Given the description of an element on the screen output the (x, y) to click on. 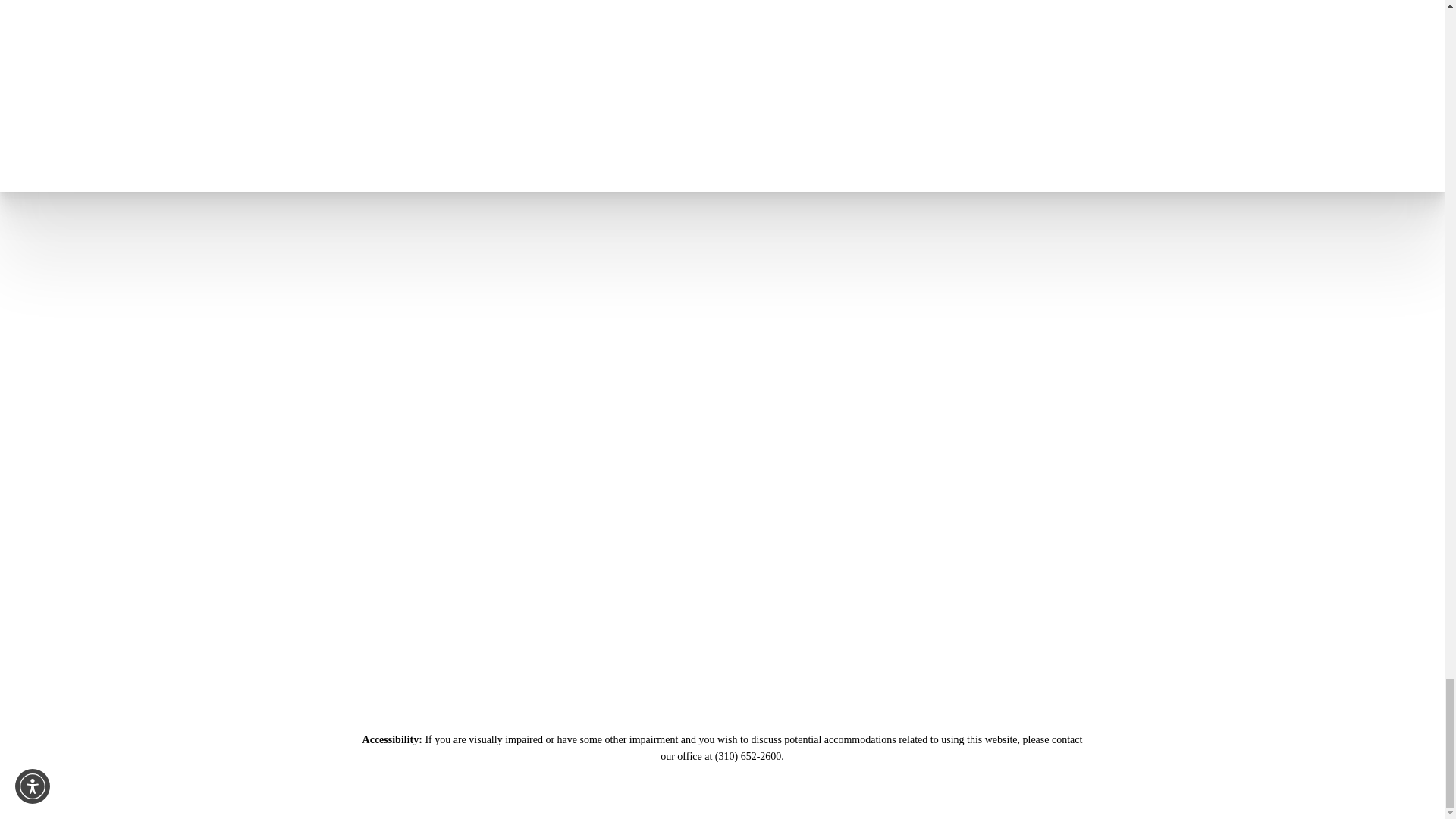
Follow Dr. Elist, M.D. FACS on Instagram (1072, 358)
Follow Dr. Elist, M.D. FACS on Facebook (1319, 382)
Follow Dr. Elist, M.D. FACS on Facebook (1303, 358)
Follow Dr. Elist, M.D. FACS on Facebook (1188, 358)
Learn more about Influx Marketing (1174, 674)
